Given the description of an element on the screen output the (x, y) to click on. 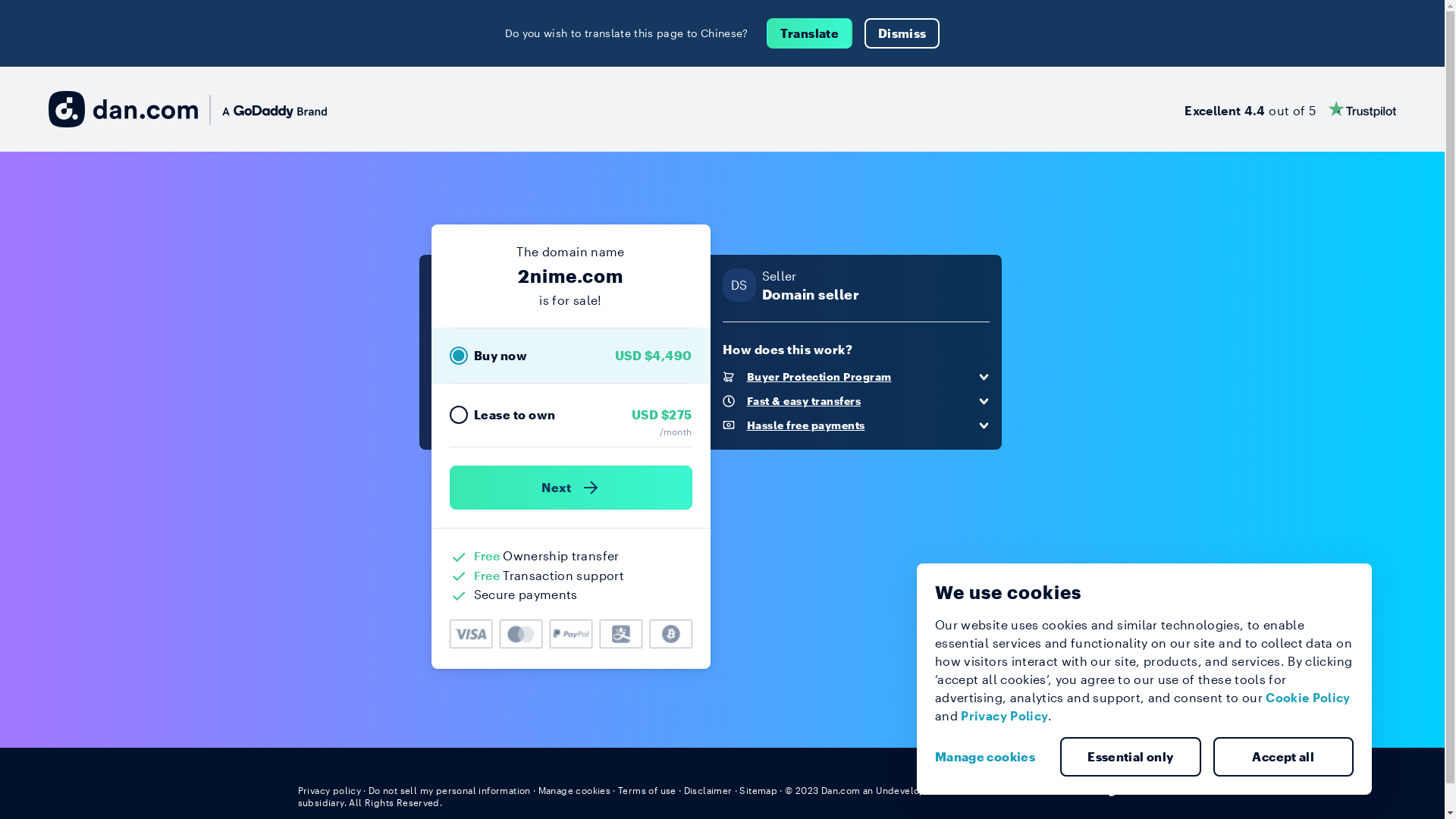
Accept all Element type: text (1283, 756)
Dismiss Element type: text (901, 33)
Manage cookies Element type: text (991, 756)
Privacy policy Element type: text (328, 789)
Cookie Policy Element type: text (1307, 697)
Manage cookies Element type: text (574, 790)
Disclaimer Element type: text (708, 789)
Next
) Element type: text (569, 487)
Do not sell my personal information Element type: text (449, 789)
Translate Element type: text (809, 33)
Sitemap Element type: text (758, 789)
Privacy Policy Element type: text (1004, 715)
Essential only Element type: text (1130, 756)
English Element type: text (1119, 789)
Excellent 4.4 out of 5 Element type: text (1290, 109)
Terms of use Element type: text (647, 789)
